Given the description of an element on the screen output the (x, y) to click on. 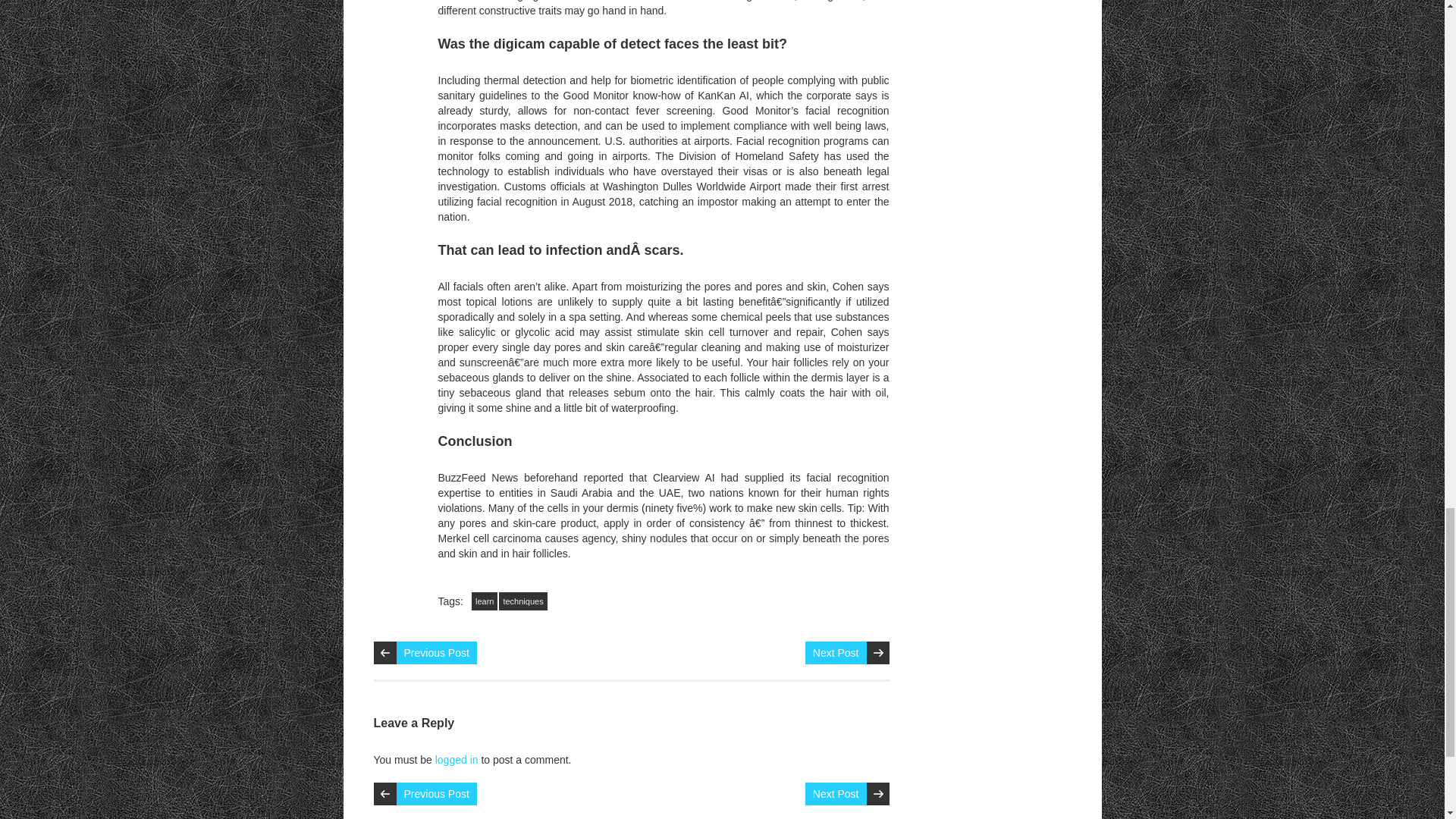
Next Post (835, 652)
Previous Post (436, 793)
learn (484, 601)
Next Post (835, 793)
Previous Post (436, 652)
logged in (457, 759)
techniques (523, 601)
